Given the description of an element on the screen output the (x, y) to click on. 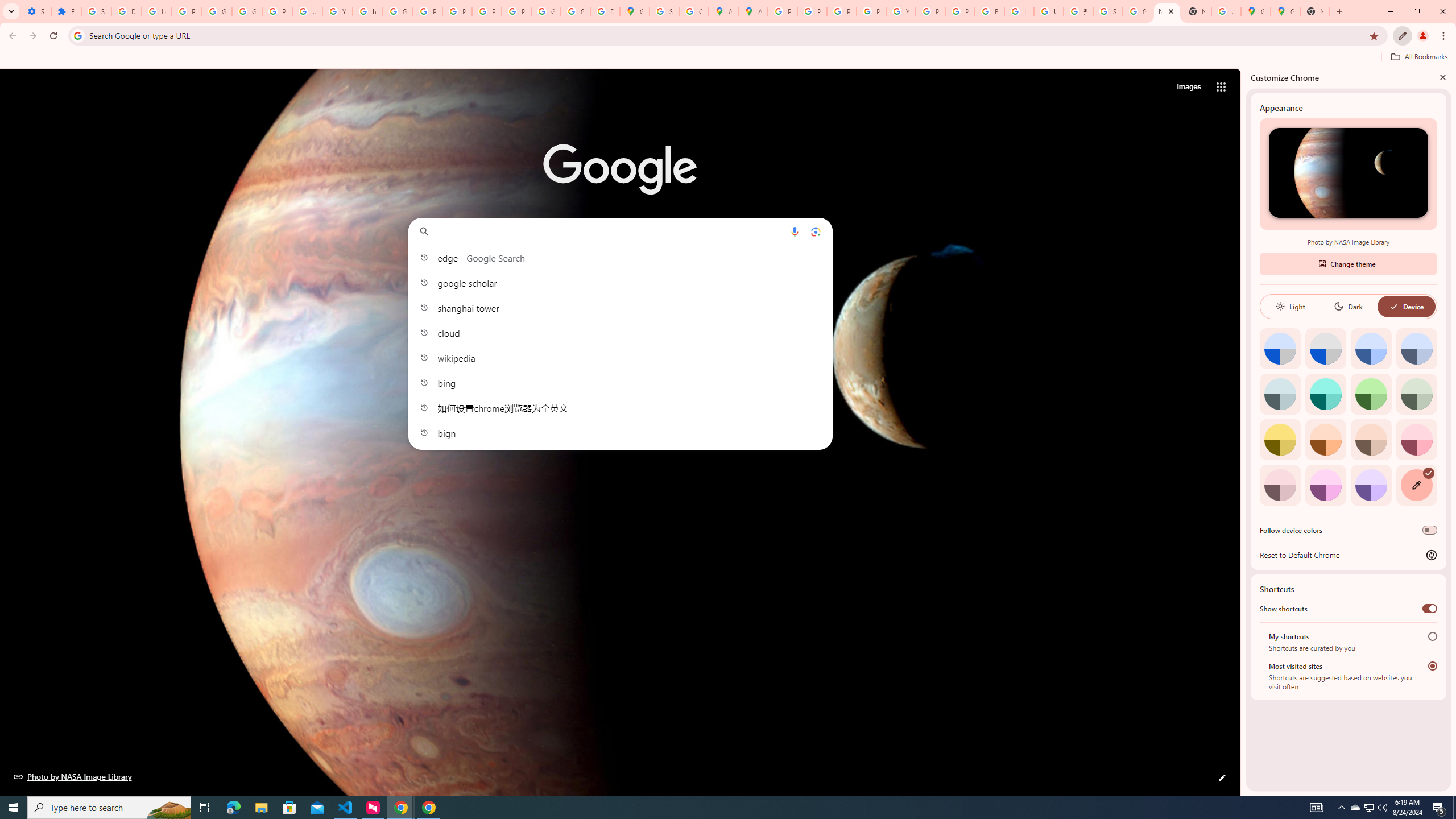
My shortcuts (1432, 636)
YouTube (337, 11)
Settings - On startup (36, 11)
Side Panel Resize Handle (1242, 431)
Privacy Help Center - Policies Help (811, 11)
Google Account Help (247, 11)
Policy Accountability and Transparency - Transparency Center (782, 11)
Delete photos & videos - Computer - Google Photos Help (126, 11)
Create your Google Account (693, 11)
